Given the description of an element on the screen output the (x, y) to click on. 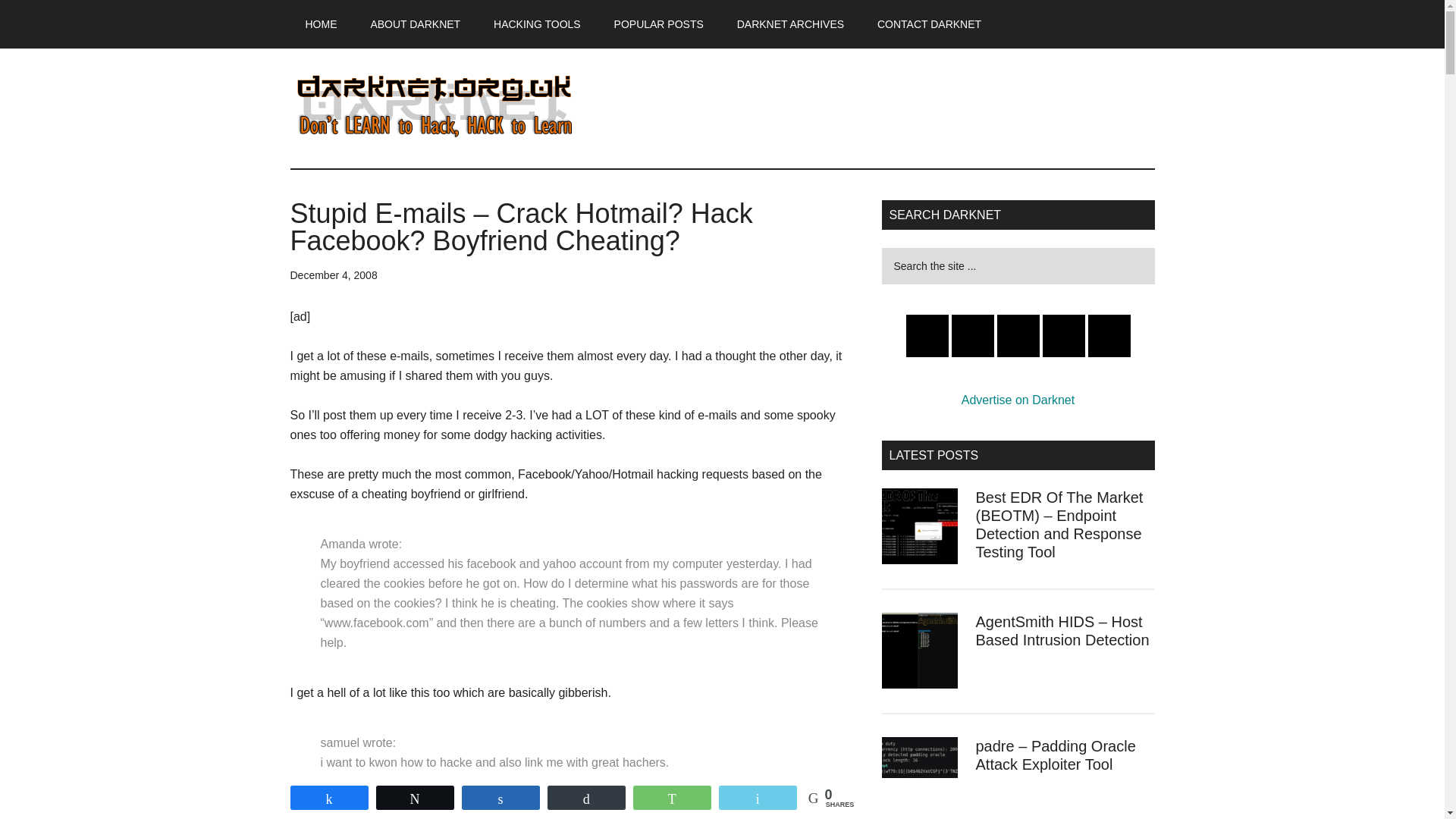
ABOUT DARKNET (415, 24)
POPULAR POSTS (658, 24)
DARKNET ARCHIVES (790, 24)
HOME (320, 24)
HACKING TOOLS (537, 24)
CONTACT DARKNET (928, 24)
